Given the description of an element on the screen output the (x, y) to click on. 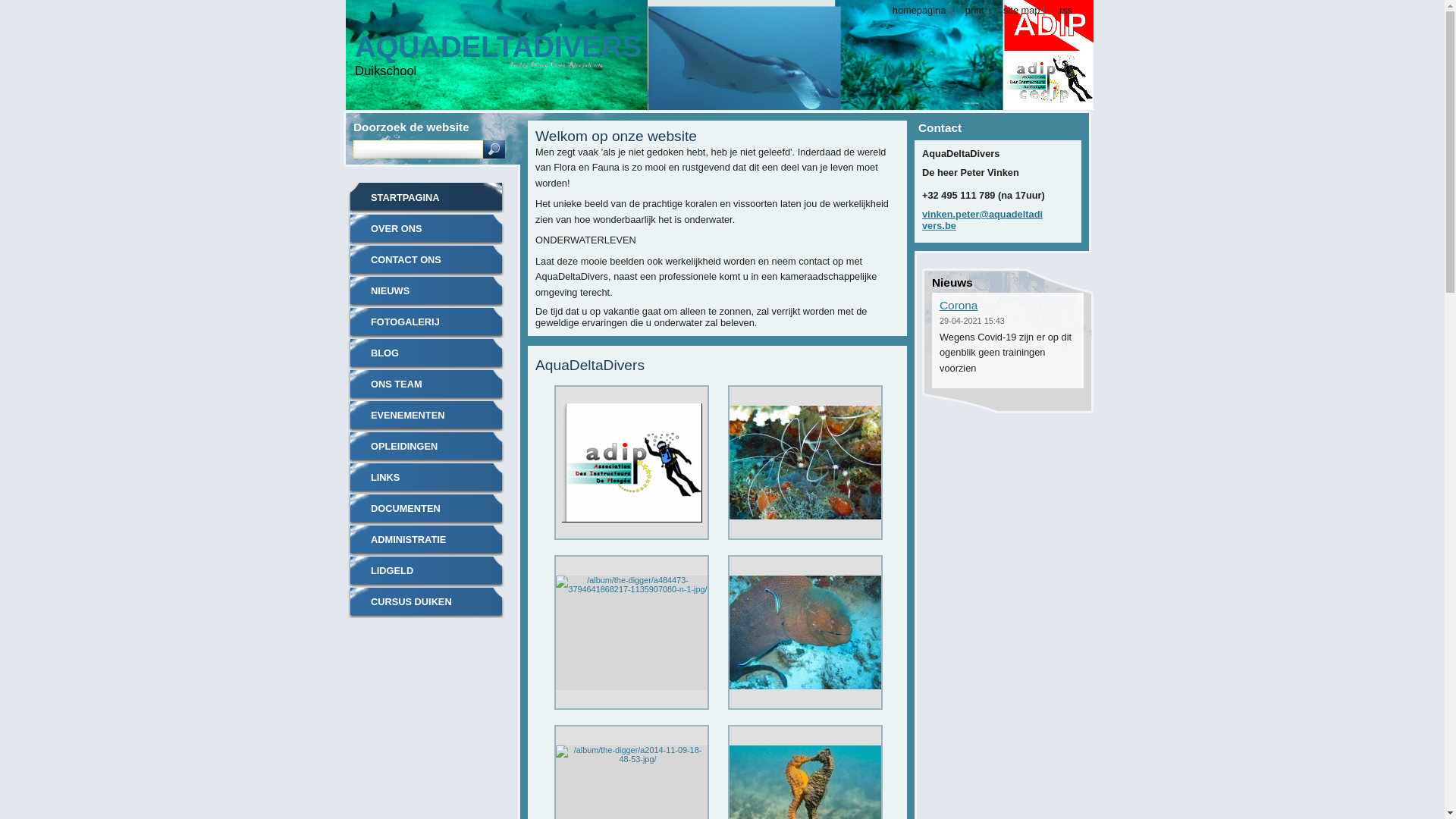
OPLEIDINGEN Element type: text (426, 446)
LINKS Element type: text (426, 477)
ONS TEAM INSTRUCTEURS Element type: text (426, 384)
FOTOGALERIJ Element type: text (426, 322)
LIDGELD Element type: text (426, 570)
Toon volledige afbeelding Element type: hover (631, 466)
Toon volledige afbeelding Element type: hover (805, 636)
STARTPAGINA Element type: text (426, 197)
ADMINISTRATIE Element type: text (426, 539)
Toon volledige afbeelding Element type: hover (805, 466)
Toon volledige afbeelding Element type: hover (631, 636)
Corona Element type: text (958, 304)
CURSUS DUIKEN Element type: text (426, 602)
NIEUWS Element type: text (426, 291)
vinken.peter@aquadeltadivers.be Element type: text (982, 219)
DOCUMENTEN Element type: text (426, 508)
CONTACT ONS Element type: text (426, 260)
homepagina Element type: text (913, 9)
site map Element type: text (1015, 9)
print Element type: text (968, 9)
rss Element type: text (1060, 9)
OVER ONS Element type: text (426, 228)
EVENEMENTEN KALENDER Element type: text (426, 415)
BLOG Element type: text (426, 353)
